Given the description of an element on the screen output the (x, y) to click on. 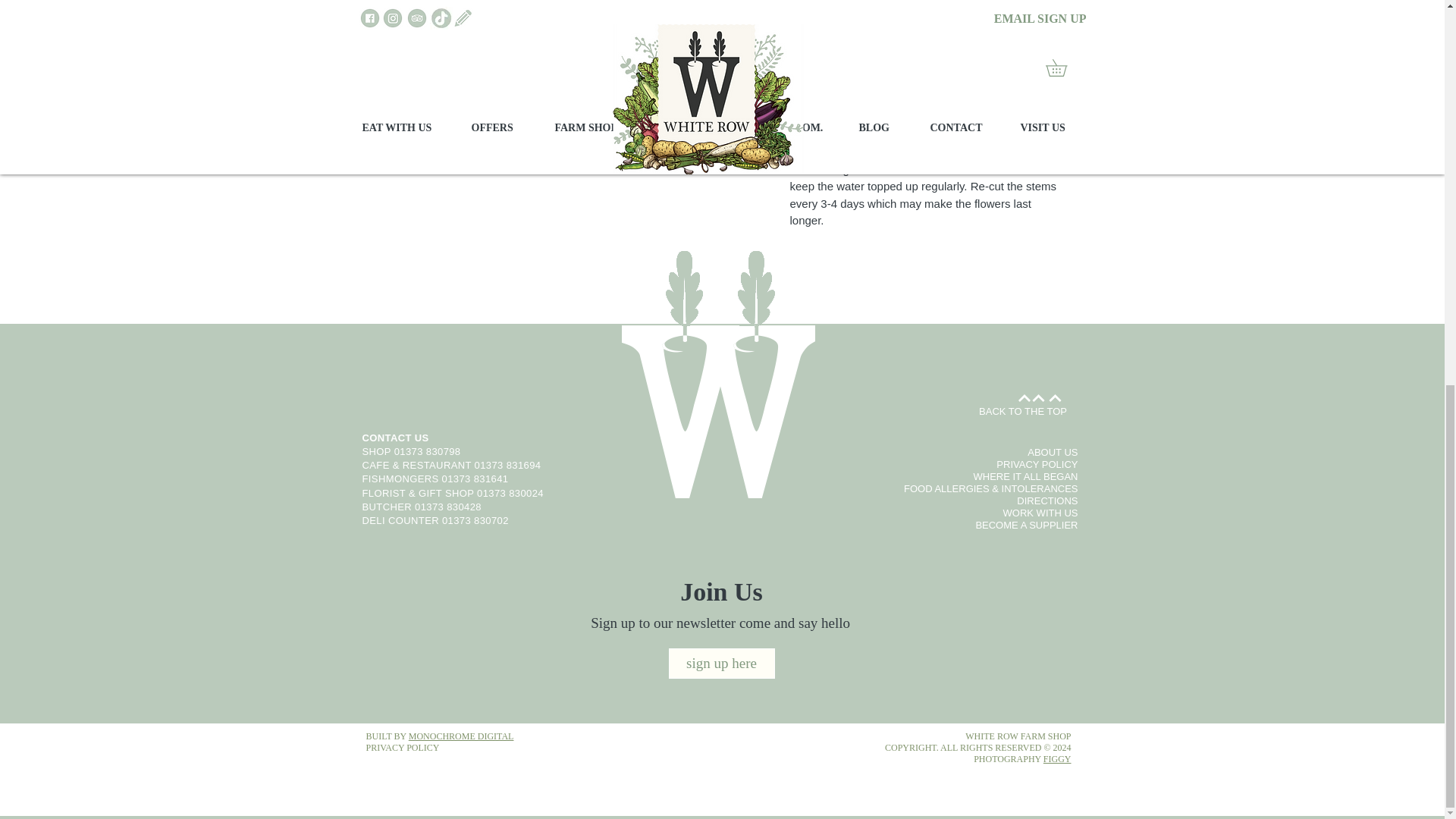
How do I care for my flowers? (924, 6)
